Given the description of an element on the screen output the (x, y) to click on. 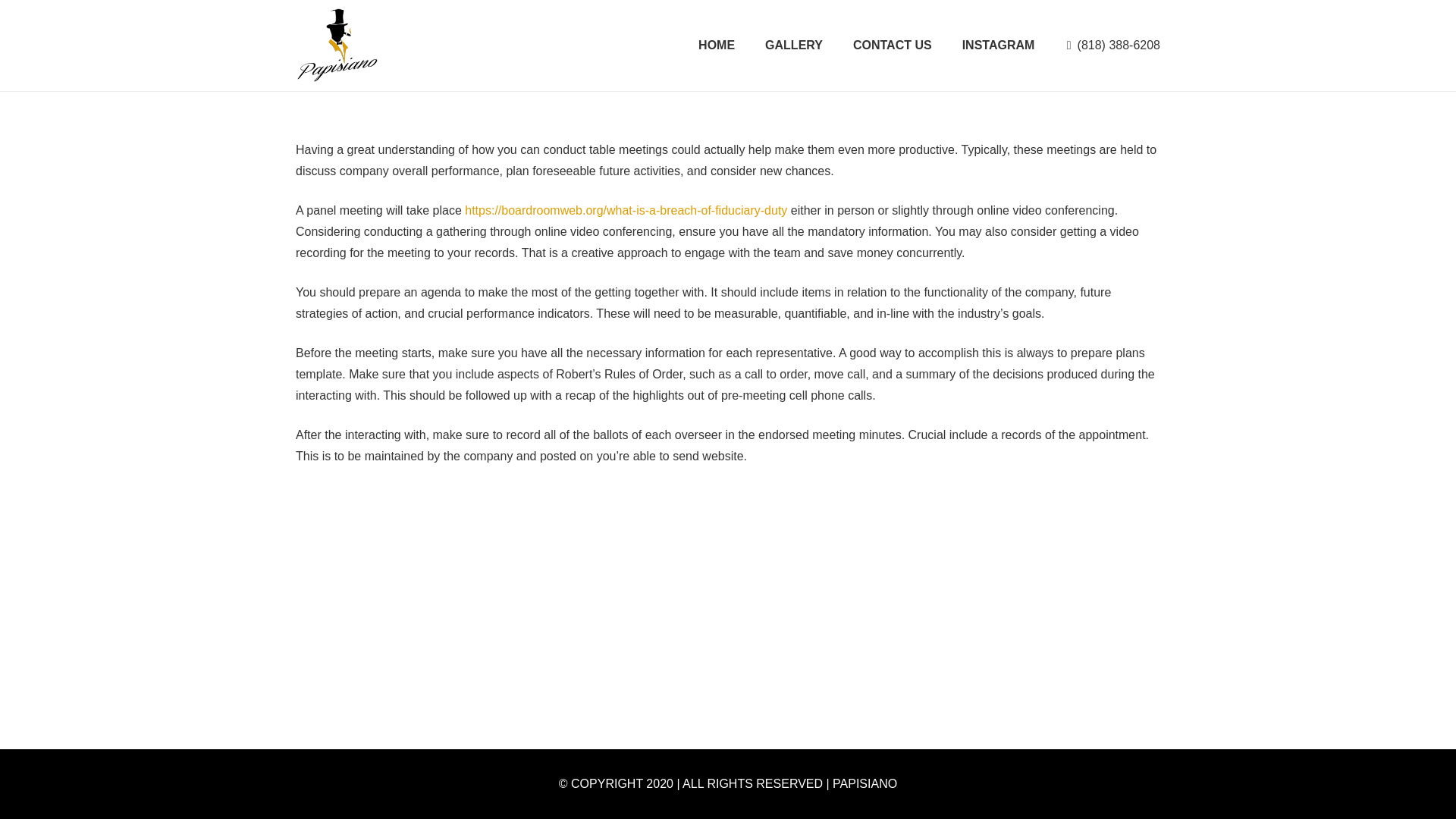
INSTAGRAM (998, 45)
GALLERY (793, 45)
CONTACT US (892, 45)
